Given the description of an element on the screen output the (x, y) to click on. 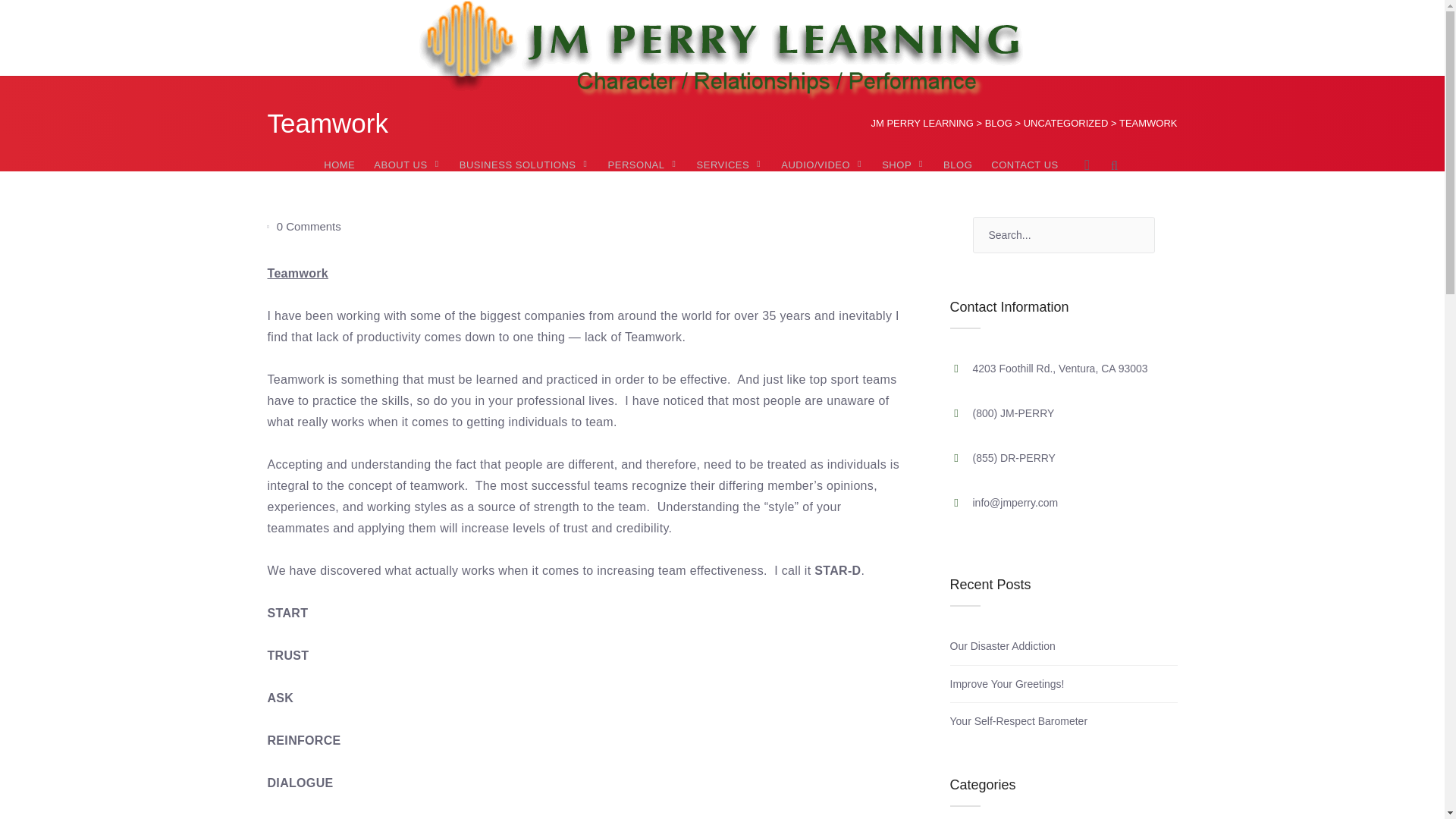
CONTACT US (1024, 165)
Search... (1063, 235)
UNCATEGORIZED (1065, 122)
Go to JM Perry Learning. (921, 122)
PERSONAL (643, 165)
Improve Your Greetings! (1006, 684)
Search... (1063, 235)
0 Comments (308, 226)
Our Disaster Addiction (1001, 645)
Comments (308, 226)
Your Self-Respect Barometer (1018, 720)
Go to Blog. (998, 122)
Go to the Uncategorized category archives. (1065, 122)
JM PERRY LEARNING (921, 122)
BUSINESS SOLUTIONS (524, 165)
